Given the description of an element on the screen output the (x, y) to click on. 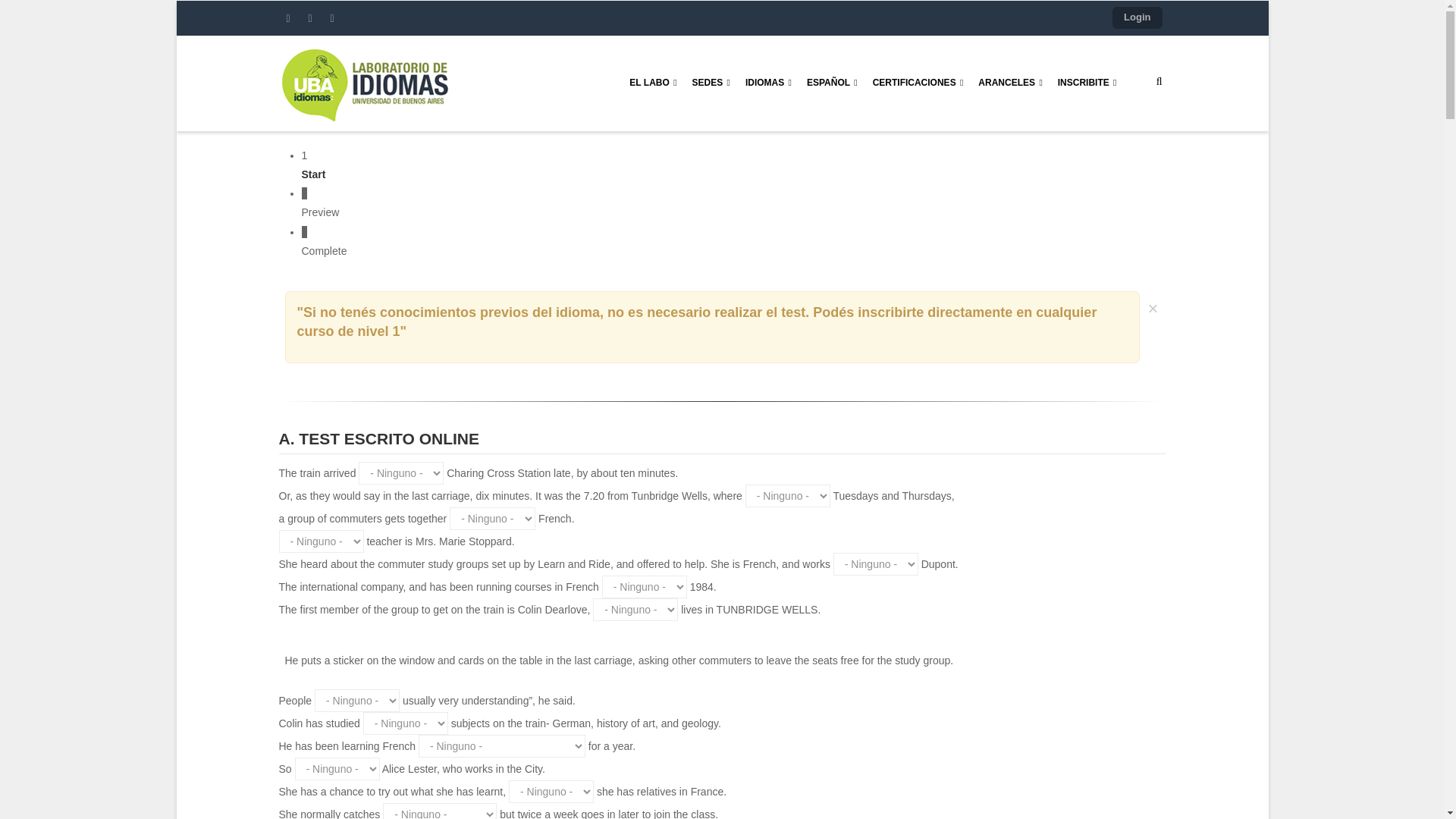
CERTIFICACIONES (917, 83)
Inicio (364, 83)
